Given the description of an element on the screen output the (x, y) to click on. 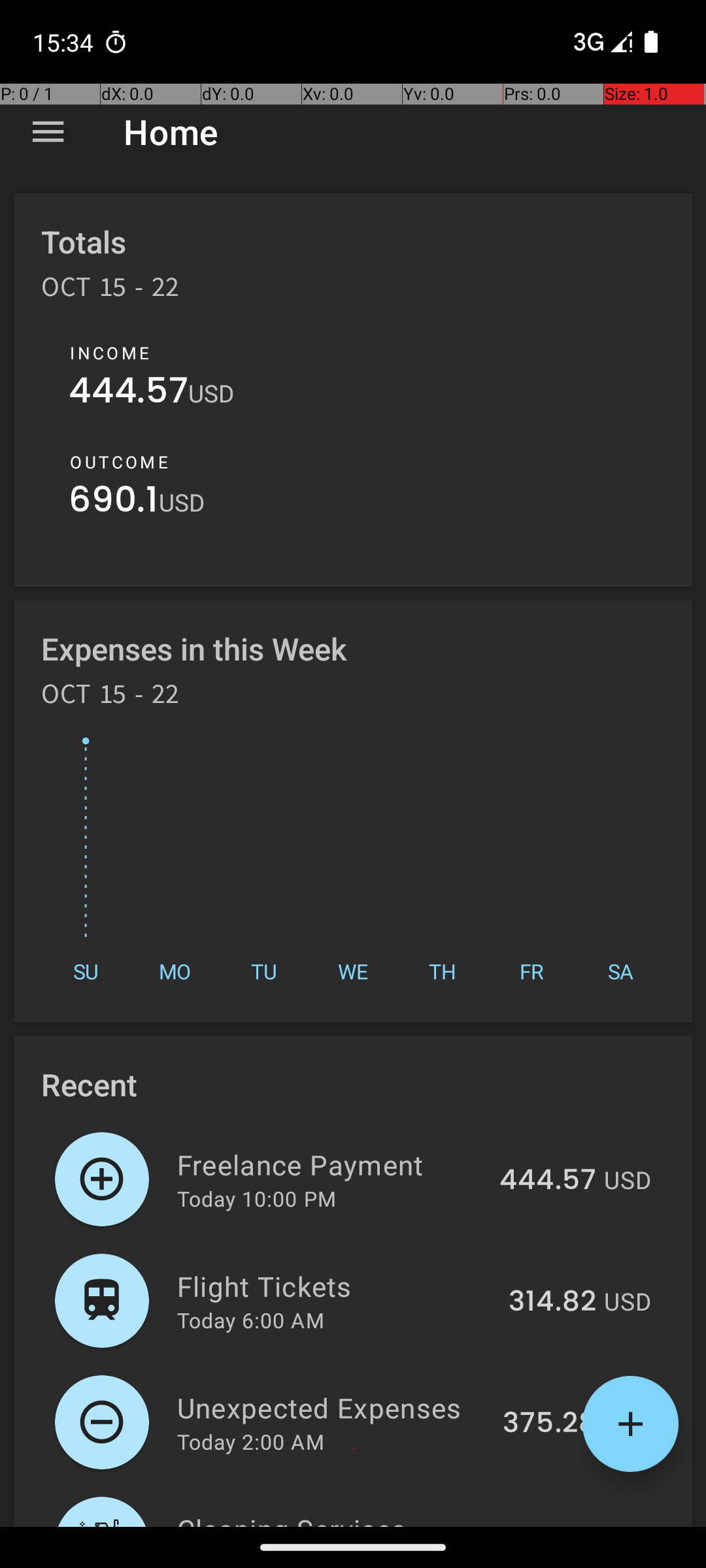
444.57 Element type: android.widget.TextView (128, 393)
690.1 Element type: android.widget.TextView (113, 502)
Flight Tickets Element type: android.widget.TextView (335, 1285)
Today 6:00 AM Element type: android.widget.TextView (250, 1320)
314.82 Element type: android.widget.TextView (551, 1301)
Unexpected Expenses Element type: android.widget.TextView (332, 1407)
Today 2:00 AM Element type: android.widget.TextView (250, 1441)
375.28 Element type: android.widget.TextView (549, 1423)
272.31 Element type: android.widget.TextView (553, 1524)
